Given the description of an element on the screen output the (x, y) to click on. 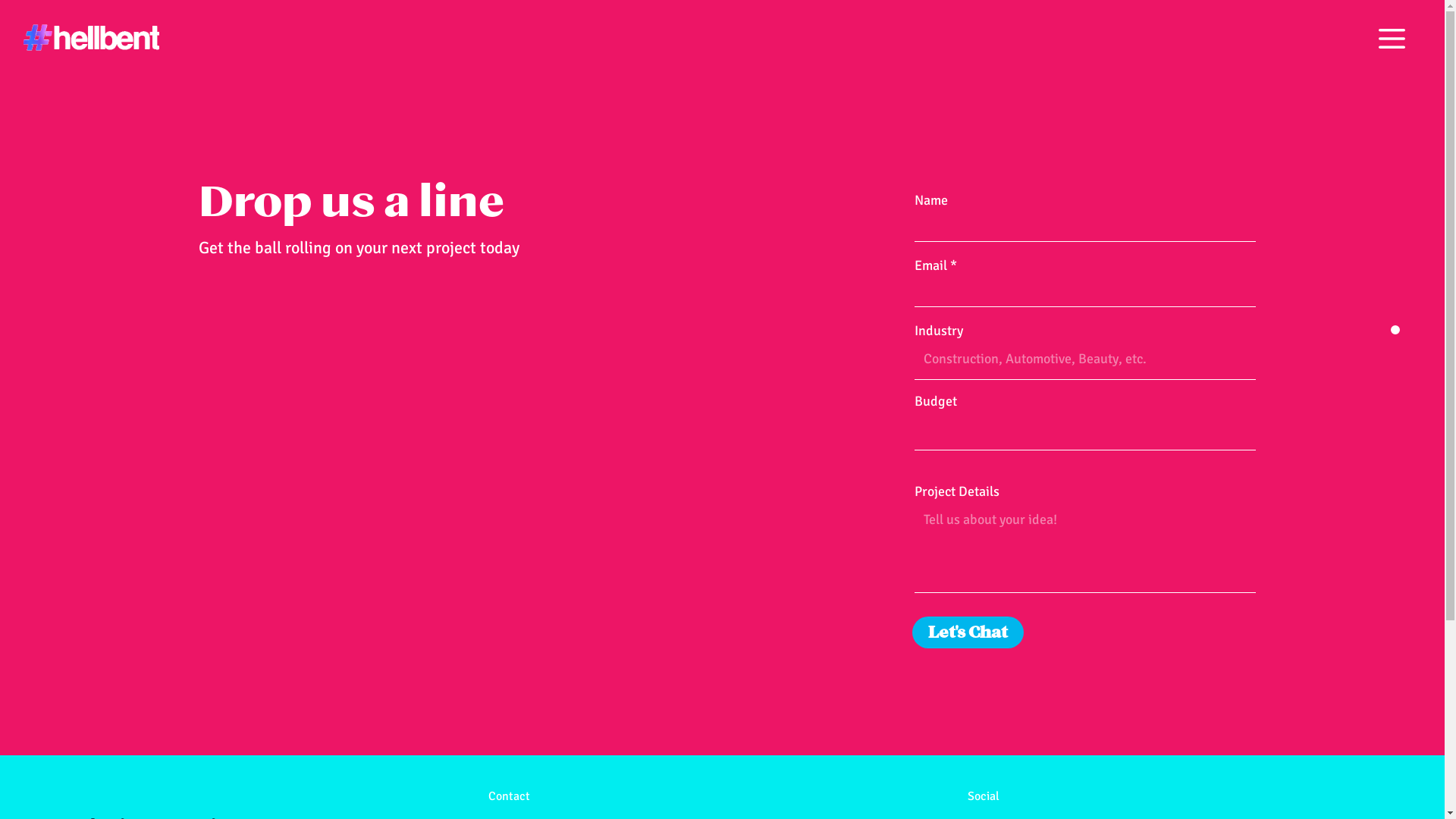
Let's Chat Element type: text (967, 632)
